Given the description of an element on the screen output the (x, y) to click on. 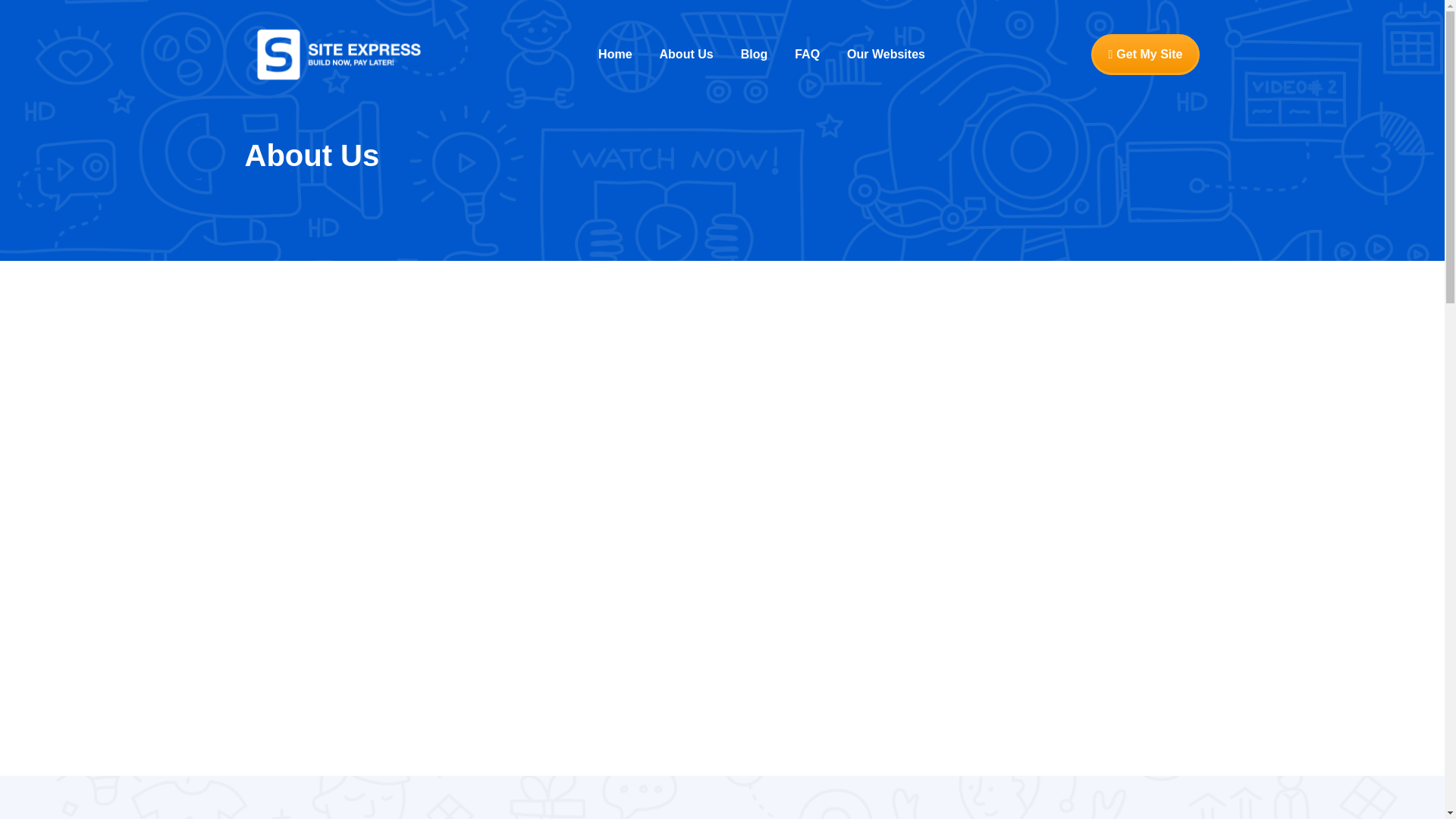
About Us (686, 55)
Home (615, 55)
Blog (753, 55)
Our Websites (885, 55)
Get My Site (1144, 55)
